Given the description of an element on the screen output the (x, y) to click on. 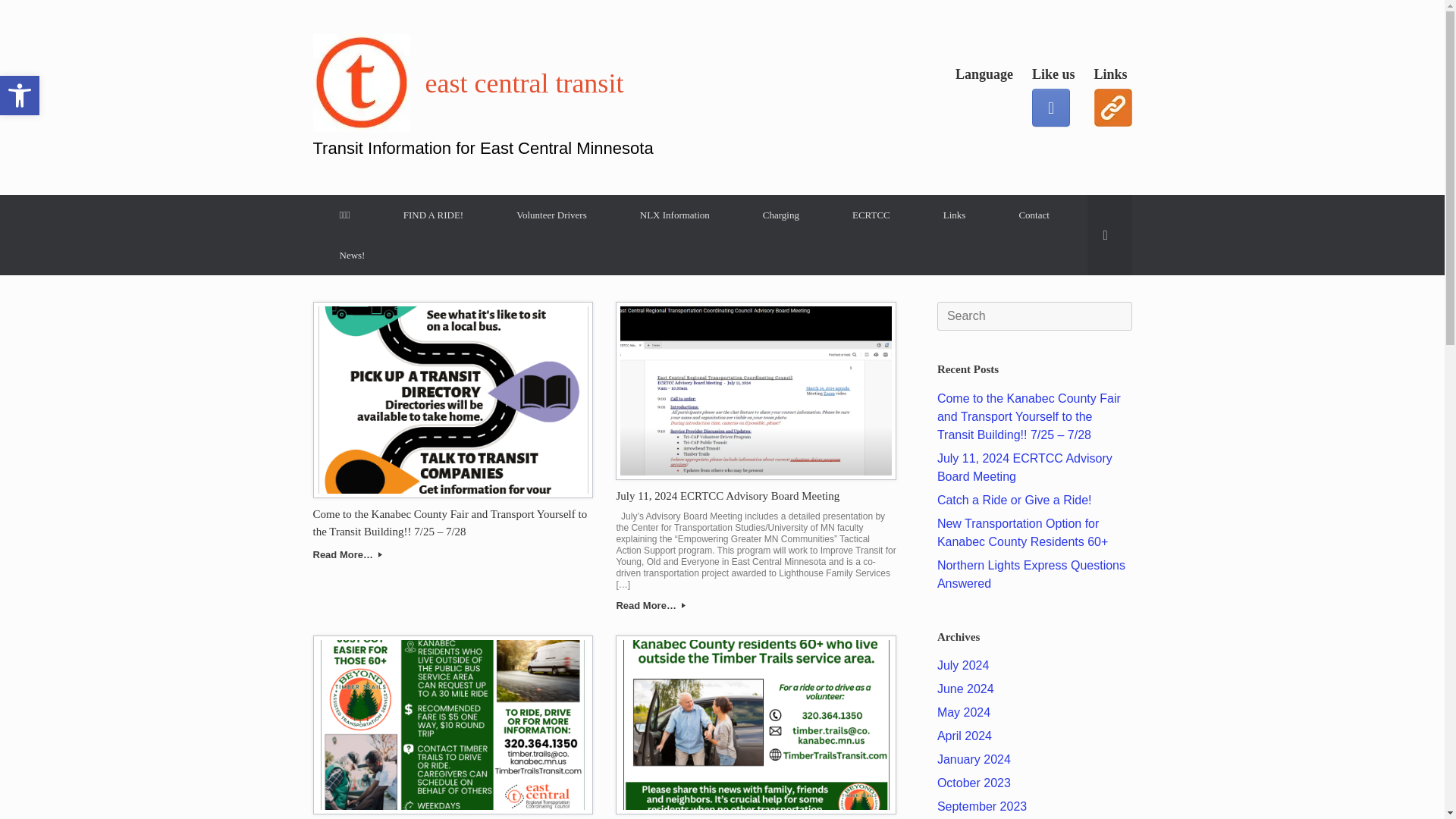
east central transit (482, 82)
Contact (1033, 214)
NLX Information (674, 214)
Volunteer Drivers (550, 214)
east central transit Facebook (1051, 107)
Accessibility Tools (19, 95)
FIND A RIDE! (433, 214)
ECRTCC (871, 214)
Accessibility Tools (19, 95)
News! (352, 255)
